Given the description of an element on the screen output the (x, y) to click on. 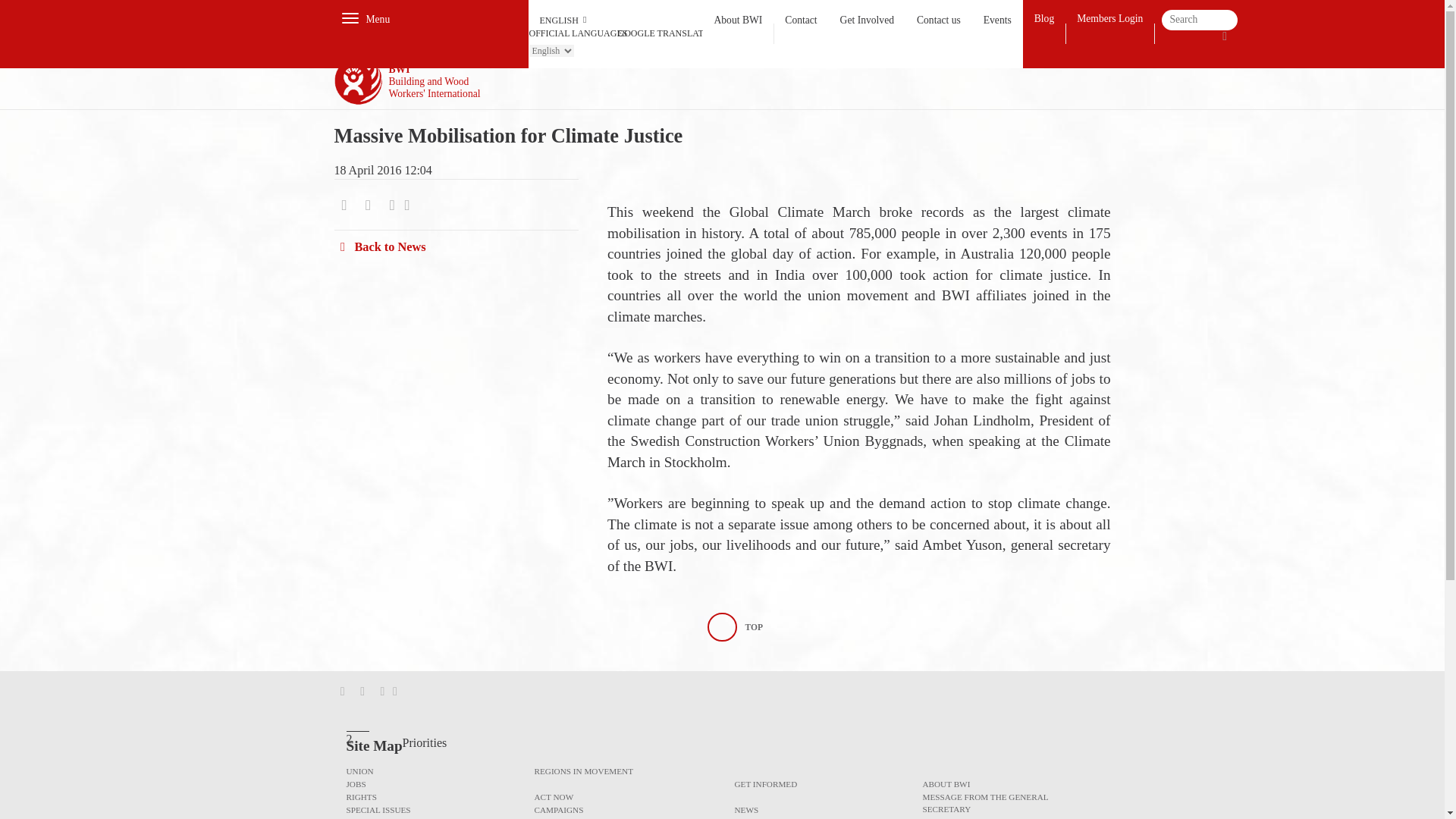
Act Now (622, 796)
Menu (378, 18)
Priorities (424, 742)
Priorities (821, 783)
Toggle navigation (349, 17)
ENGLISH (615, 20)
